Given the description of an element on the screen output the (x, y) to click on. 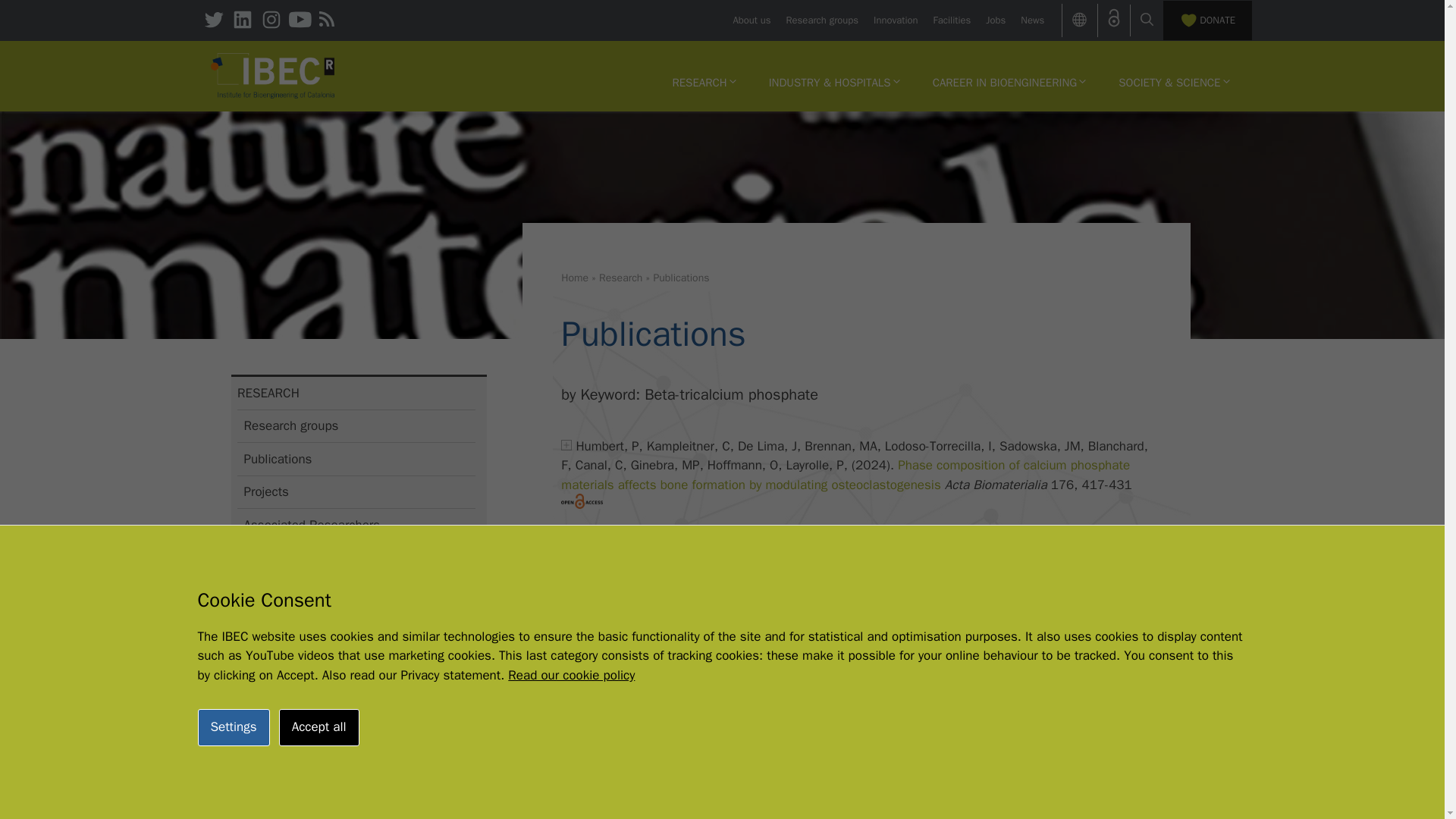
Facilities (952, 19)
Institute for Bioengineering of Catalonia (272, 75)
Innovation (895, 19)
RESEARCH (704, 81)
Institute for Bioengineering of Catalonia (272, 74)
News (1031, 19)
DONATE (1207, 20)
About us (751, 19)
Jobs (995, 19)
Research groups (822, 19)
